Given the description of an element on the screen output the (x, y) to click on. 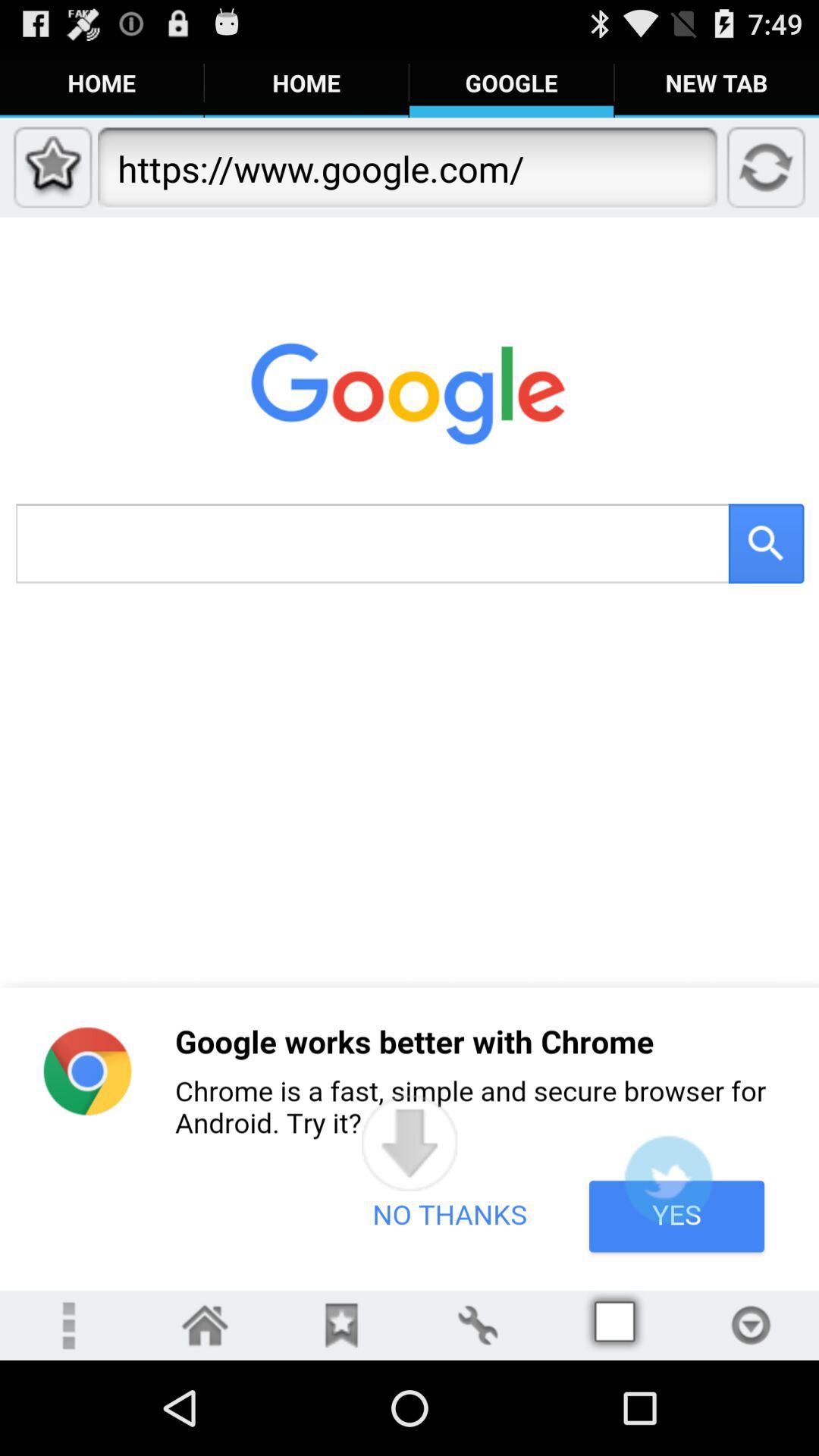
edit site preferences (477, 1325)
